Given the description of an element on the screen output the (x, y) to click on. 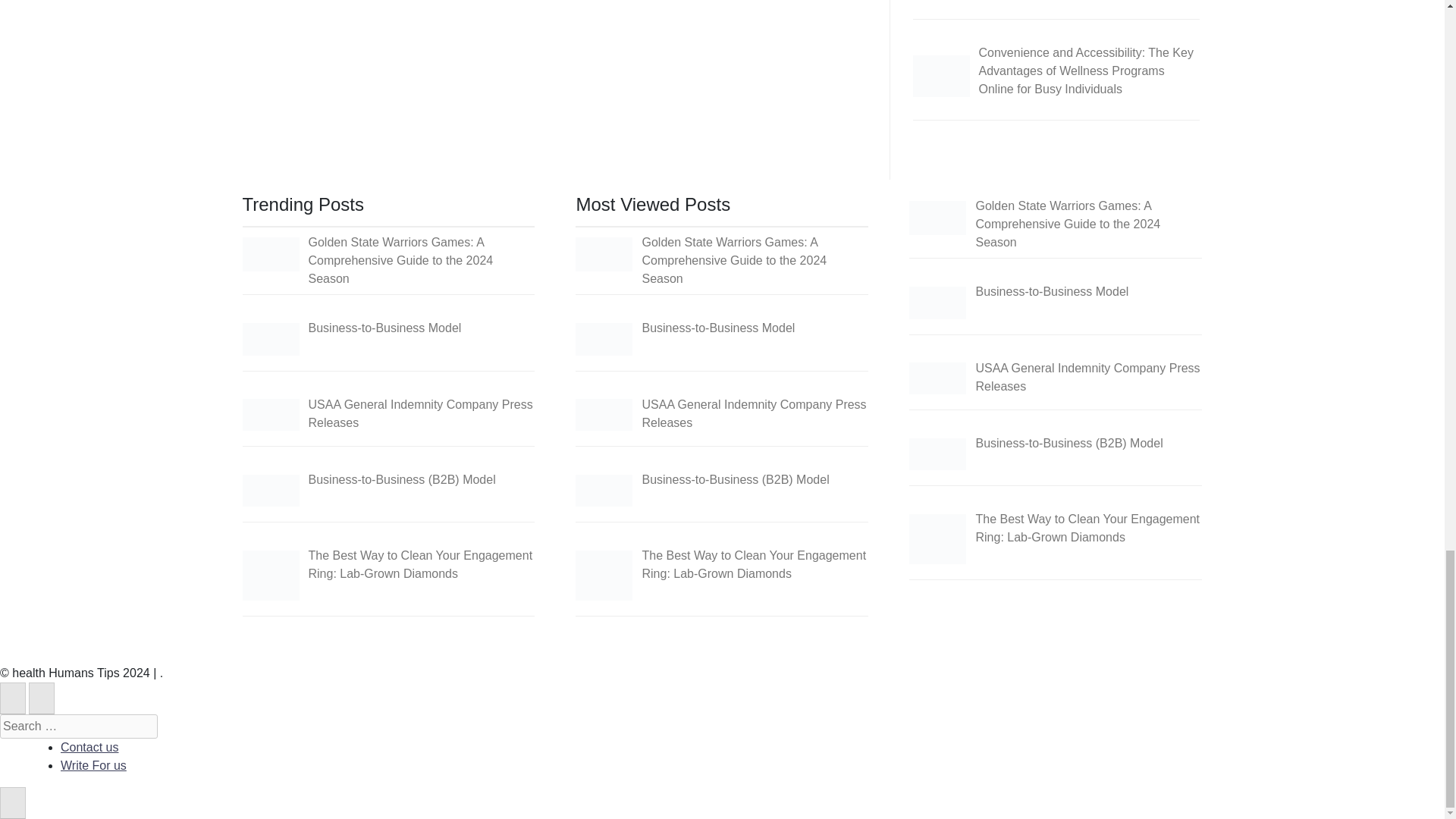
Novak Djokovic News: Recent Updates and Achievements (940, 2)
